Given the description of an element on the screen output the (x, y) to click on. 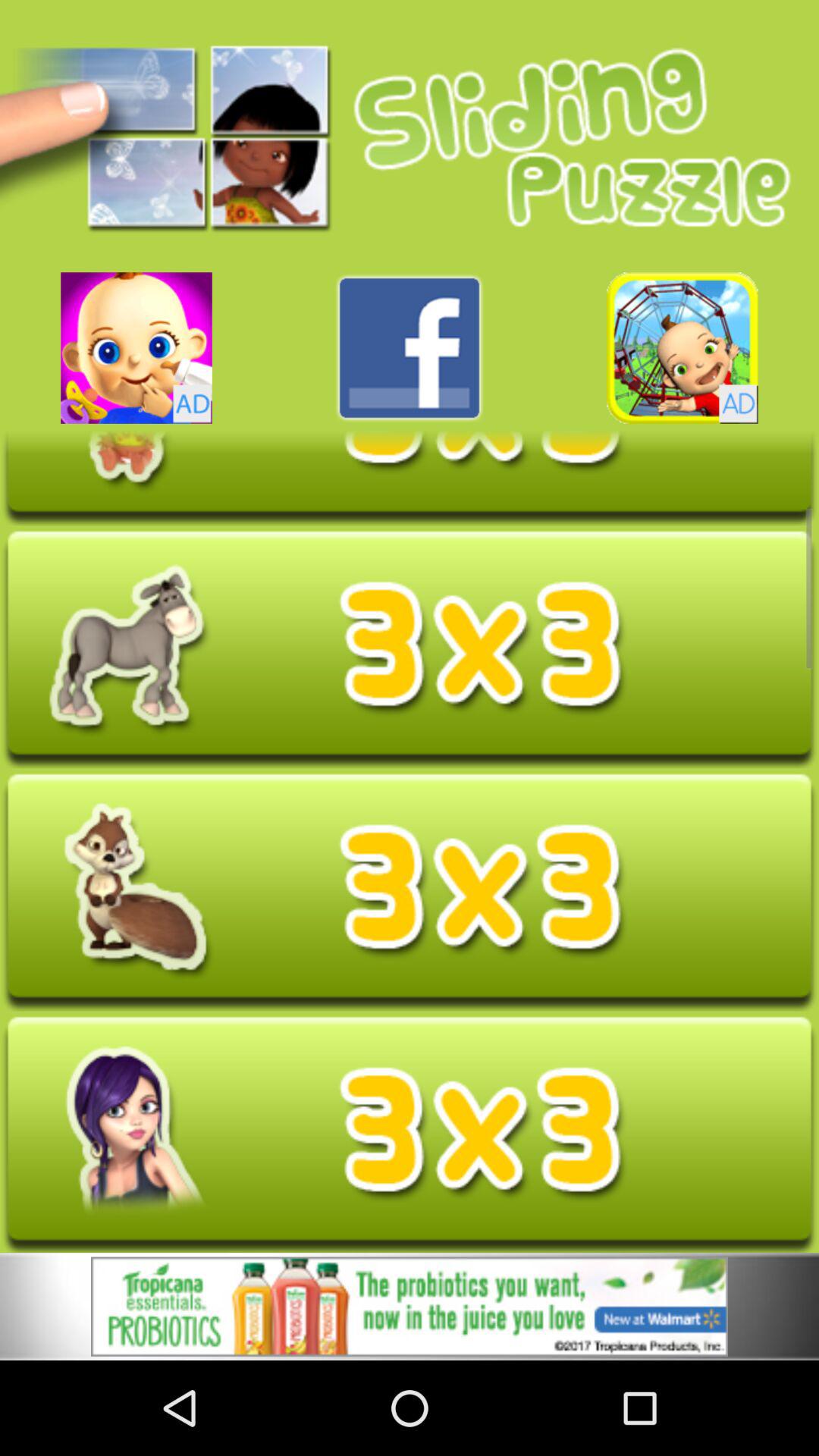
choose raccoon puzzle (409, 891)
